Given the description of an element on the screen output the (x, y) to click on. 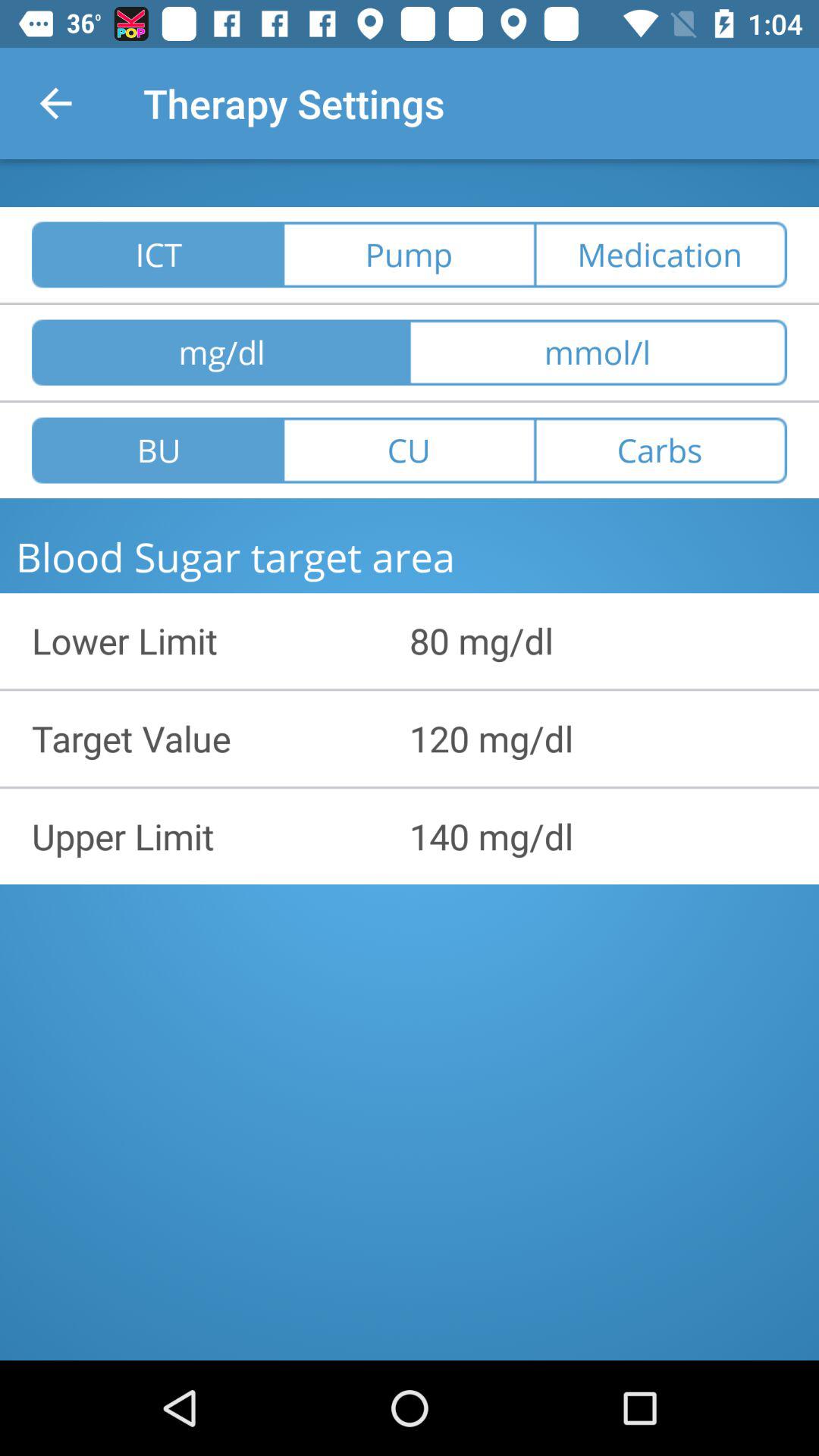
click icon above the blood sugar target (157, 450)
